Given the description of an element on the screen output the (x, y) to click on. 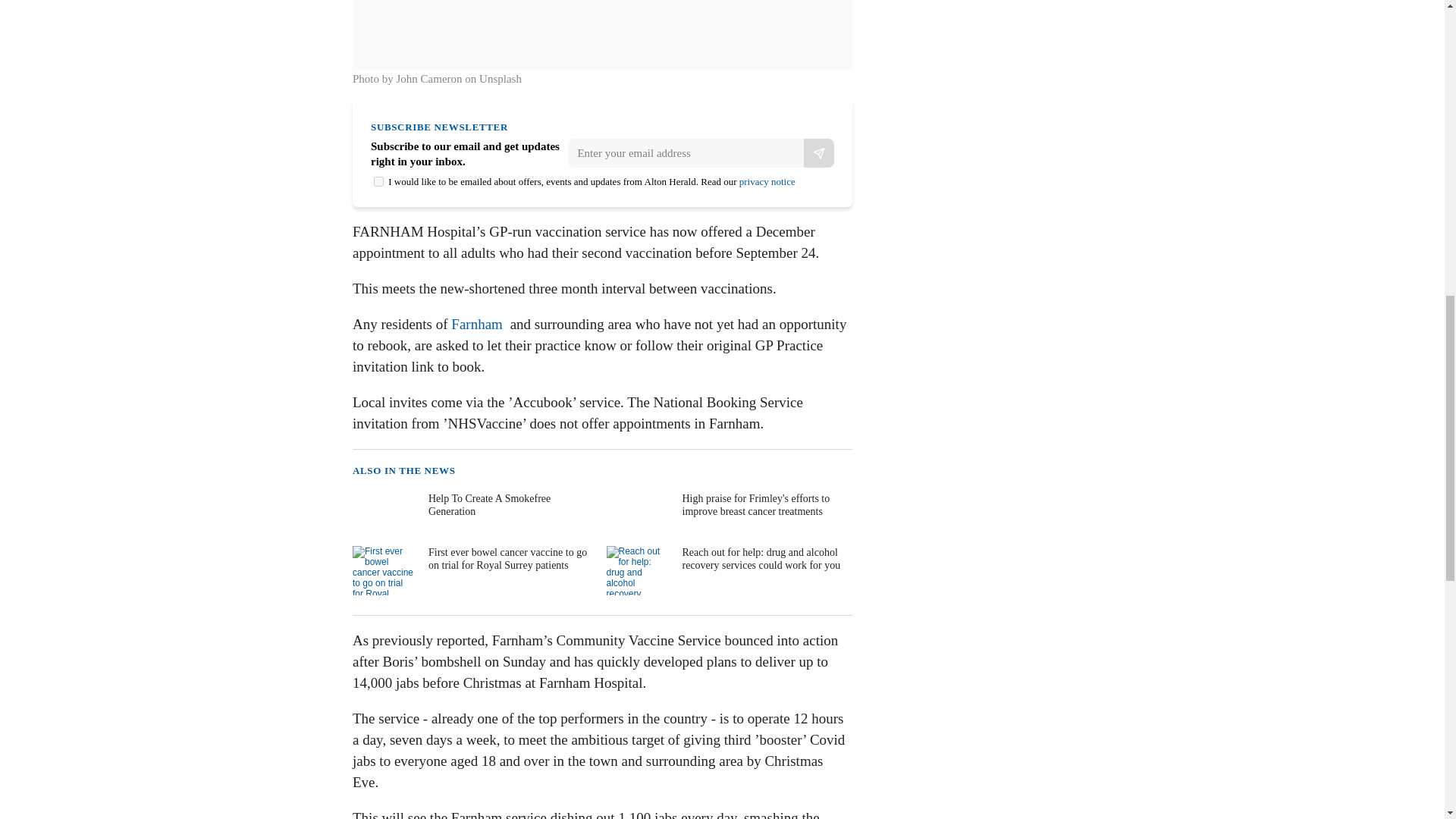
Farnham (476, 324)
Help To Create A Smokefree Generation (473, 516)
privacy notice (766, 181)
on (379, 181)
